Given the description of an element on the screen output the (x, y) to click on. 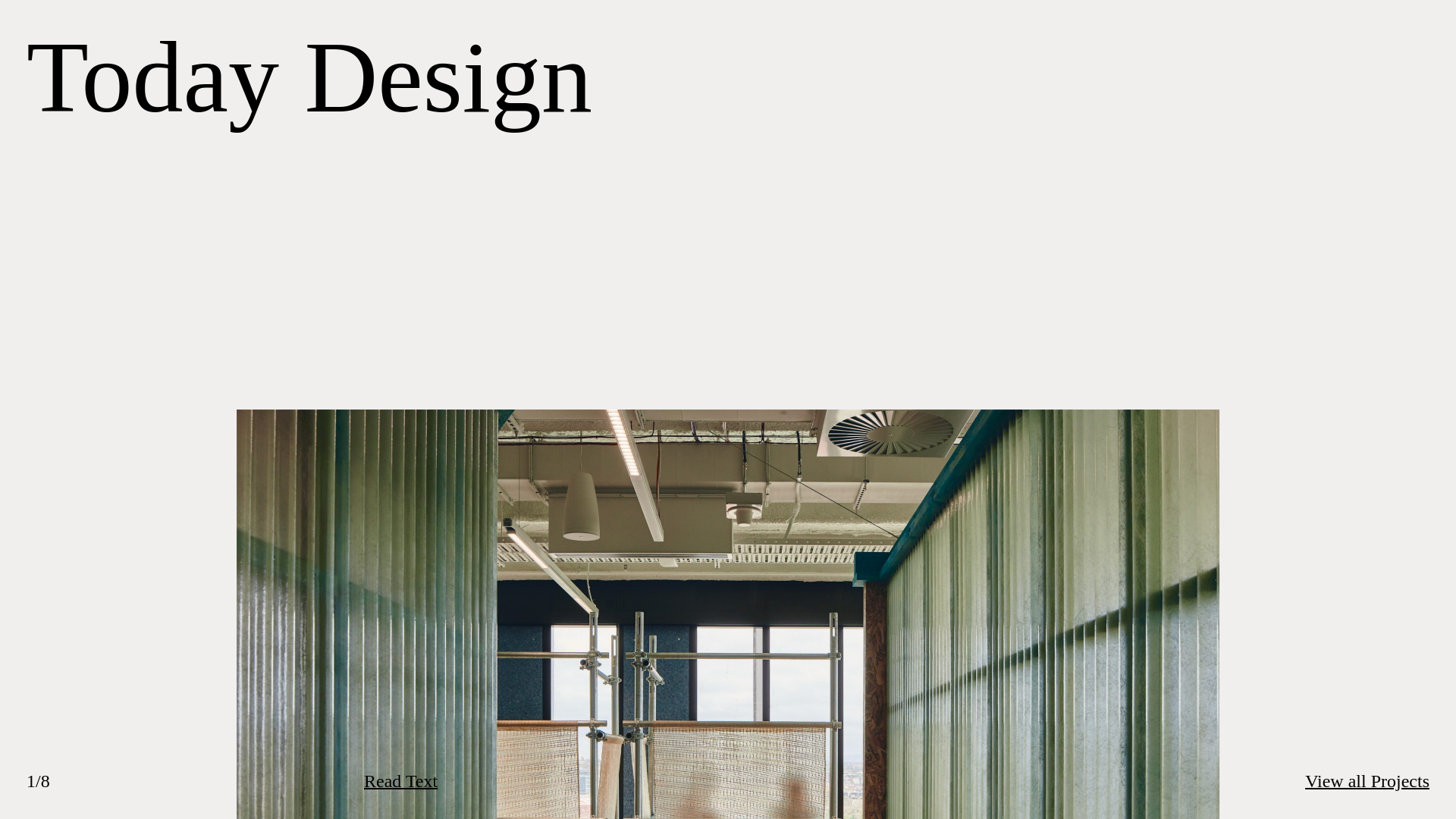
View all Projects (1366, 781)
Read Text (401, 781)
